Given the description of an element on the screen output the (x, y) to click on. 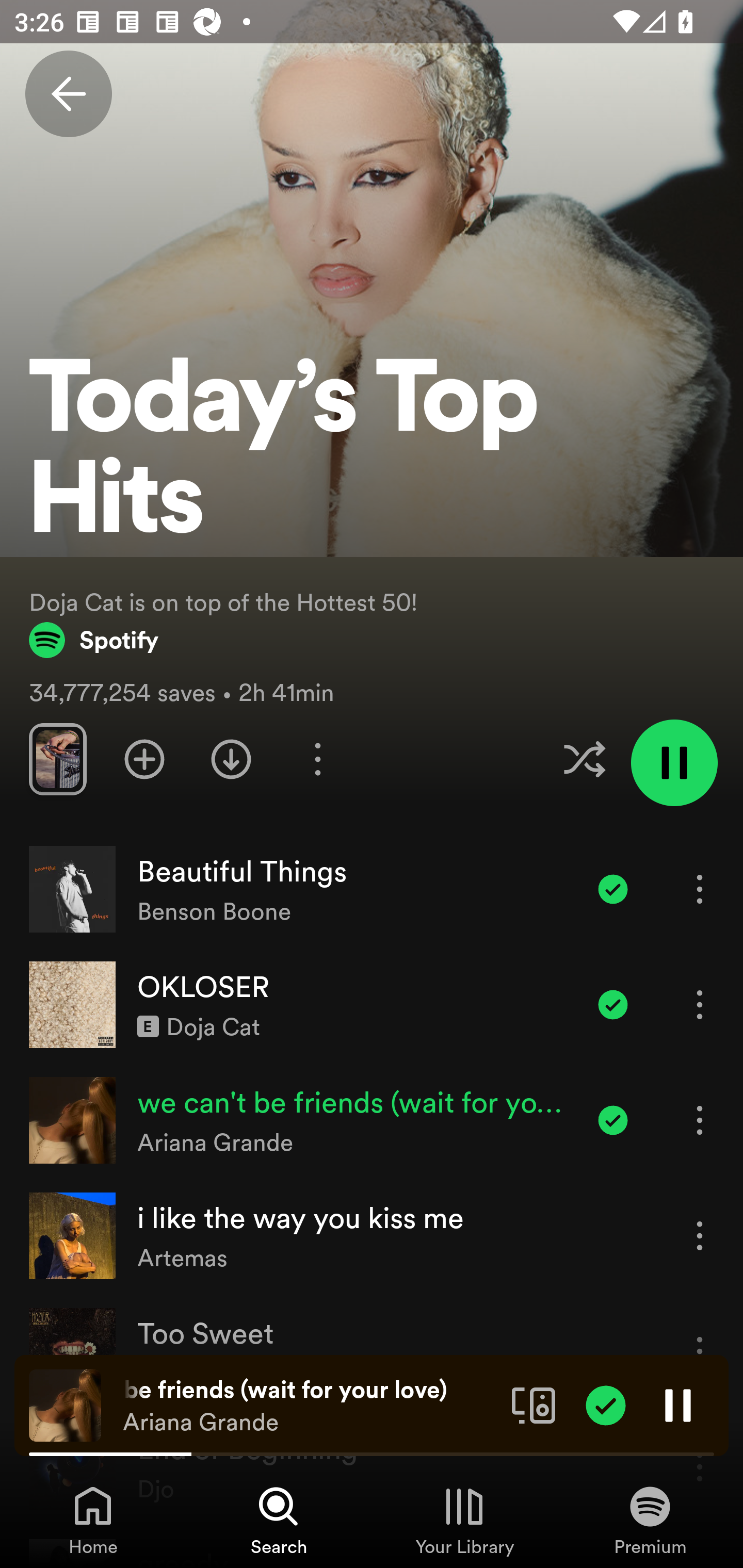
Back (68, 93)
Spotify (93, 640)
Swipe through previews of tracks in this playlist. (57, 759)
Add playlist to Your Library (144, 759)
Download (230, 759)
More options for playlist Today’s Top Hits (317, 759)
Enable shuffle for this playlist (583, 759)
Pause playlist (674, 762)
Item added (612, 888)
More options for song Beautiful Things (699, 888)
Item added (612, 1004)
More options for song OKLOSER (699, 1004)
Item added (612, 1120)
More options for song i like the way you kiss me (699, 1236)
Too Sweet Hozier More options for song Too Sweet (371, 1351)
